Given the description of an element on the screen output the (x, y) to click on. 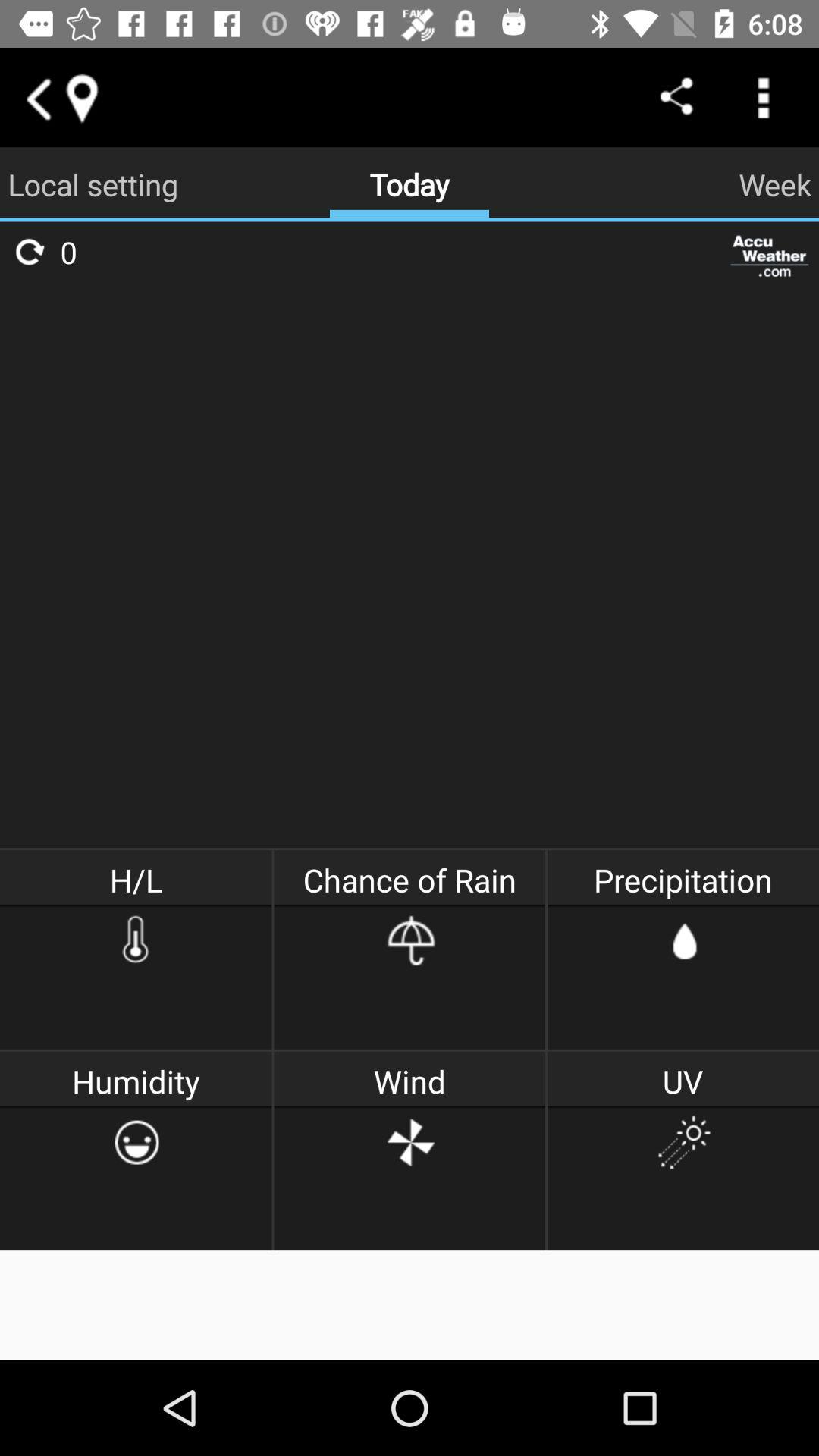
open your location (81, 97)
